Given the description of an element on the screen output the (x, y) to click on. 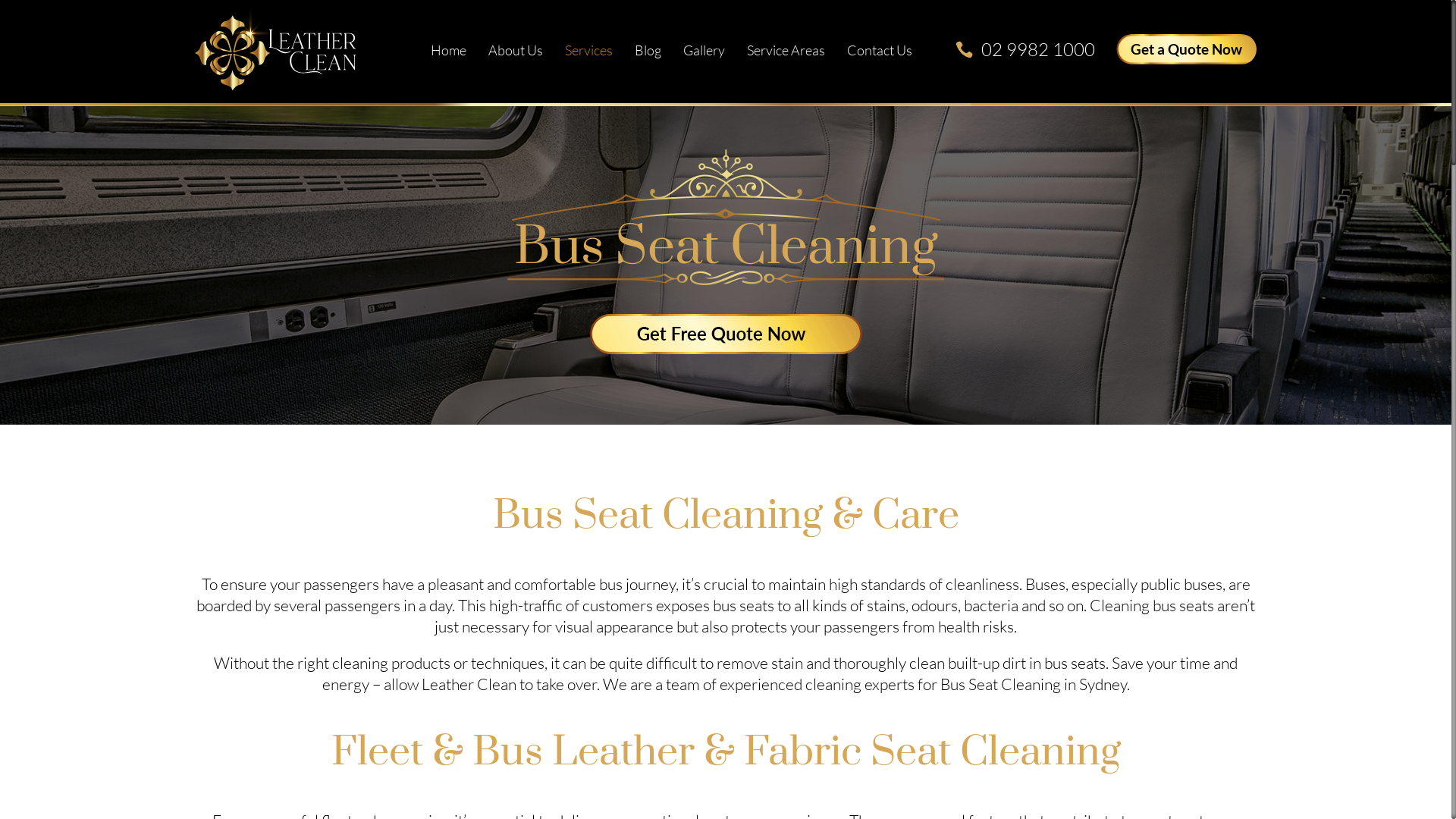
Services Element type: text (588, 49)
About Us Element type: text (515, 49)
Service Areas Element type: text (785, 49)
Get a Quote Now Element type: text (1186, 49)
02 9982 1000 Element type: text (1038, 48)
Blog Element type: text (647, 49)
Home Element type: text (448, 49)
Gallery Element type: text (703, 49)
Contact Us Element type: text (879, 49)
